Given the description of an element on the screen output the (x, y) to click on. 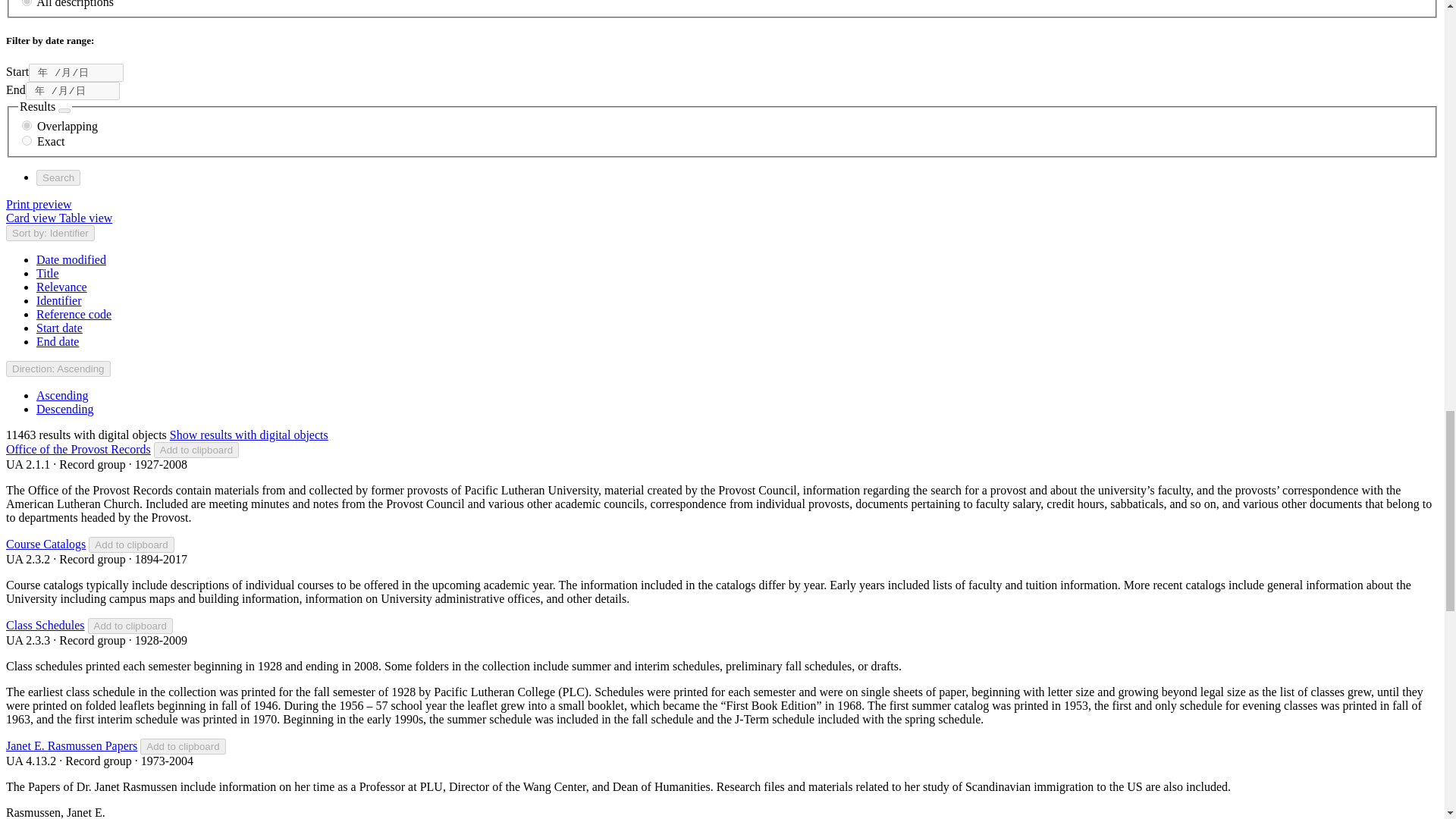
0 (26, 2)
Search (58, 177)
exact (26, 140)
inclusive (26, 125)
